Given the description of an element on the screen output the (x, y) to click on. 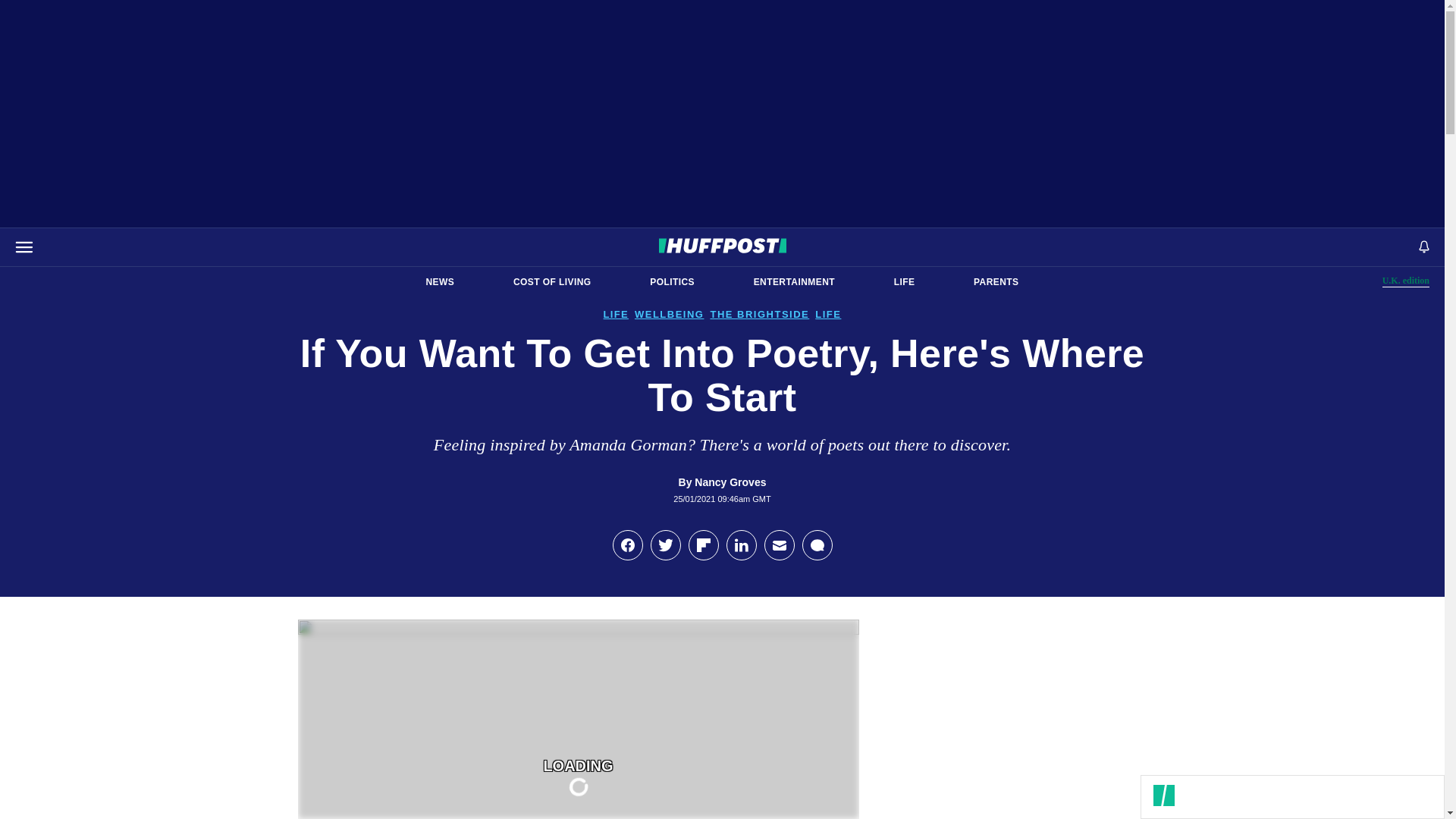
POLITICS (671, 281)
NEWS (440, 281)
LIFE (904, 281)
COST OF LIVING (552, 281)
PARENTS (995, 281)
ENTERTAINMENT (794, 281)
